Given the description of an element on the screen output the (x, y) to click on. 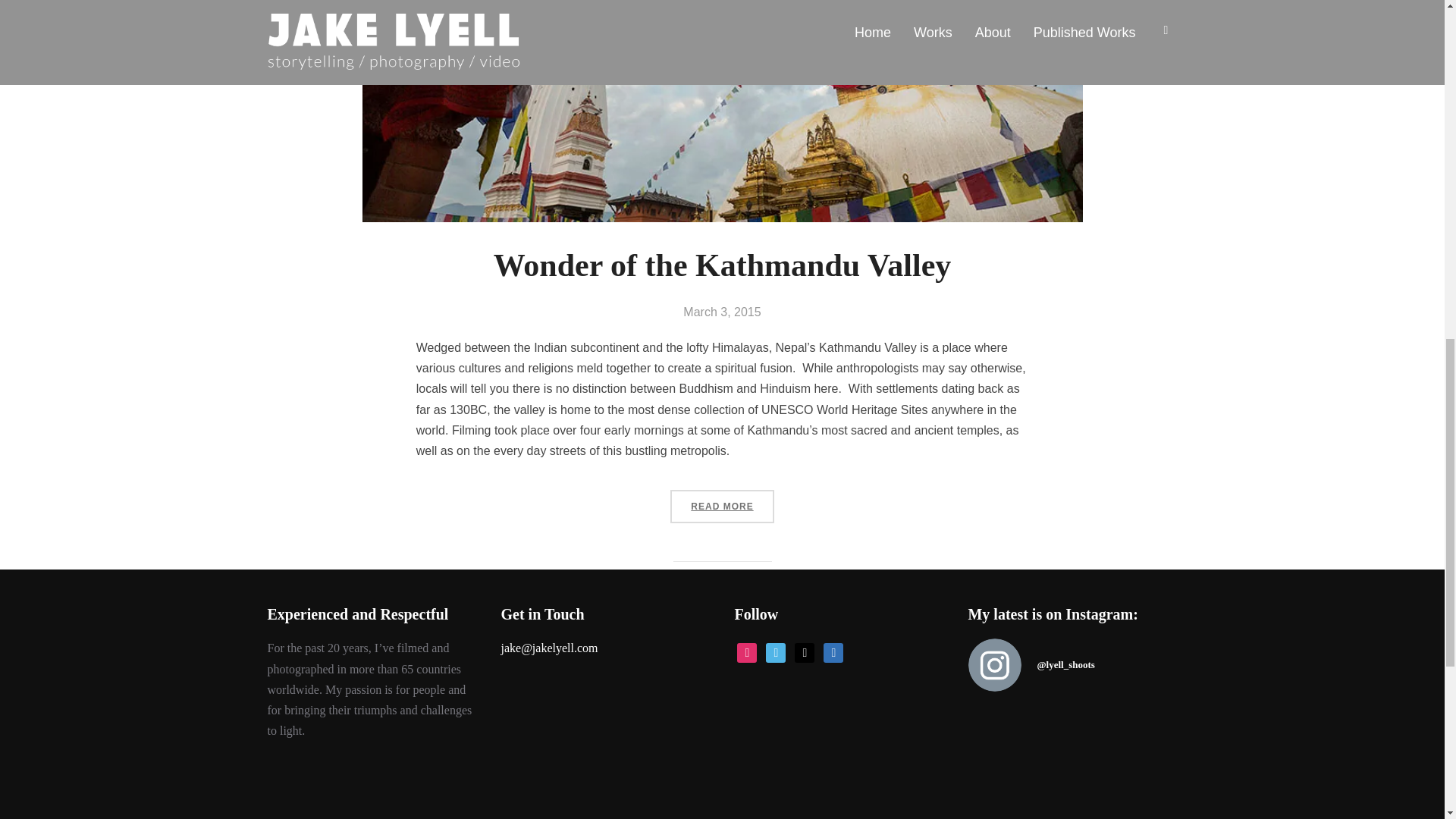
Instagram (746, 650)
READ MORE (721, 506)
Wonder of the Kathmandu Valley (722, 265)
vimeo (775, 650)
Default Label (775, 650)
instagram (746, 650)
Default Label (803, 650)
Default Label (833, 650)
mail (803, 650)
